Given the description of an element on the screen output the (x, y) to click on. 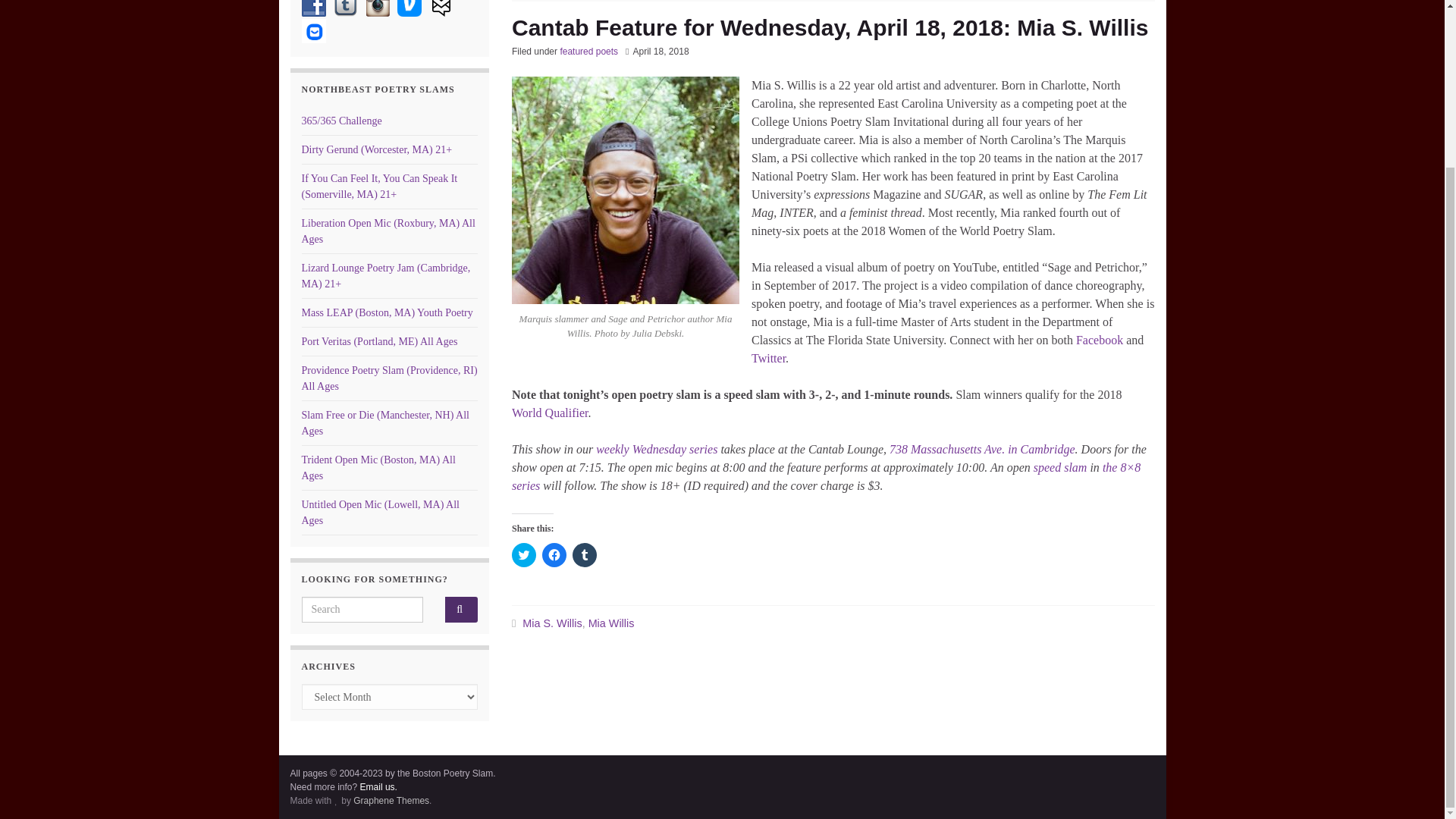
 Facebook (313, 8)
 Old Newsletter! (440, 8)
Wednesdays at the Cantab: Boston Poetry Slam (656, 449)
 Tumblr (345, 8)
directions to the Cantab (982, 449)
 Venmo (409, 8)
Click to share on Tumblr (584, 554)
 Current Newsletter! (313, 30)
 Instagram (377, 8)
2018-04-18T00:01:34-04:00 (659, 50)
Click to share on Twitter (523, 554)
Click to share on Facebook (553, 554)
